Given the description of an element on the screen output the (x, y) to click on. 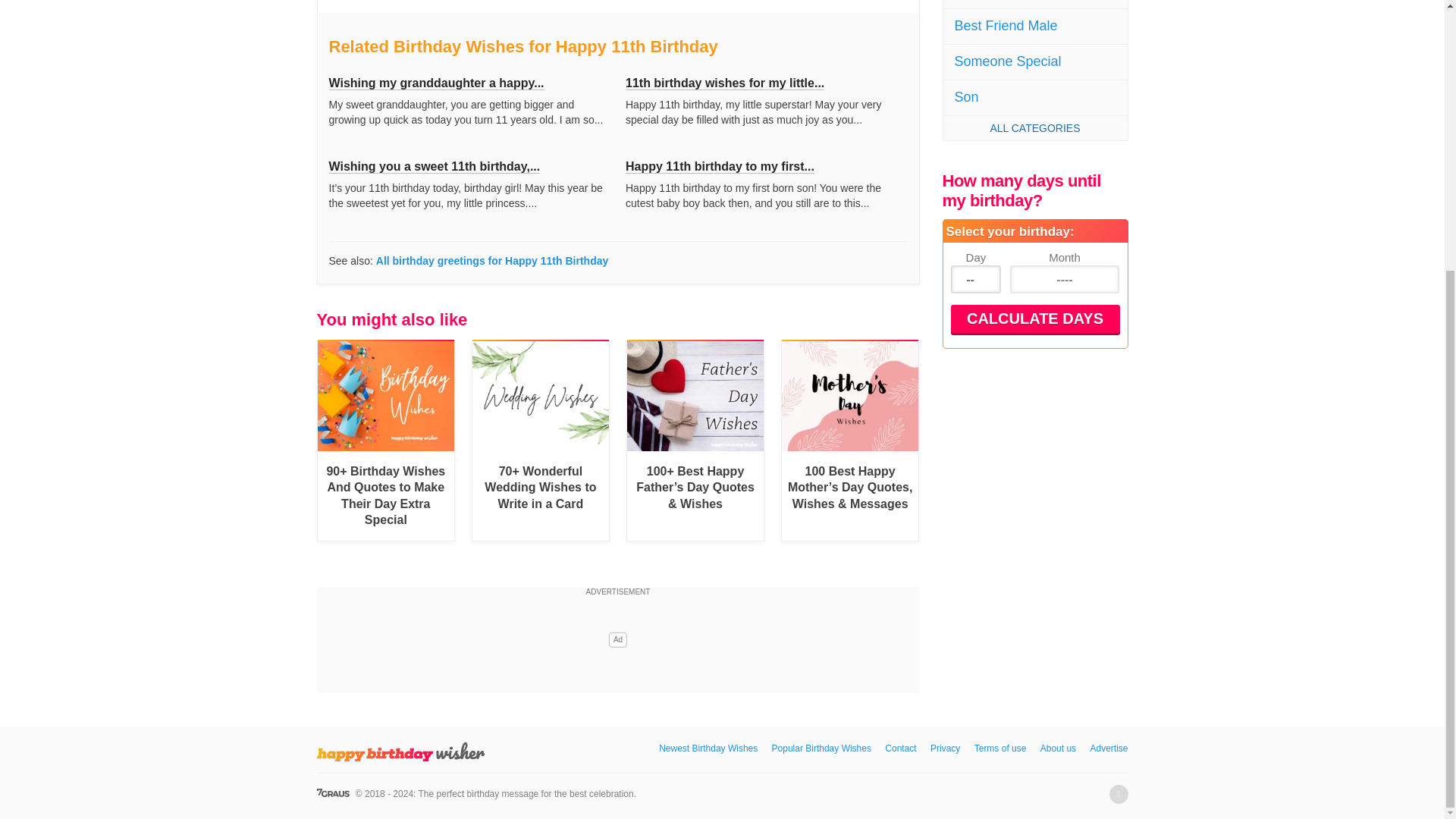
Wishing my granddaughter a happy... (436, 83)
All birthday greetings for Happy 11th Birthday (491, 260)
RSS do Happy Birthday Wisher (1117, 793)
Wishing you a sweet 11th birthday,... (434, 166)
11th birthday wishes for my little... (725, 83)
Happy 11th birthday to my first... (719, 166)
Calculate Days (1034, 318)
